Given the description of an element on the screen output the (x, y) to click on. 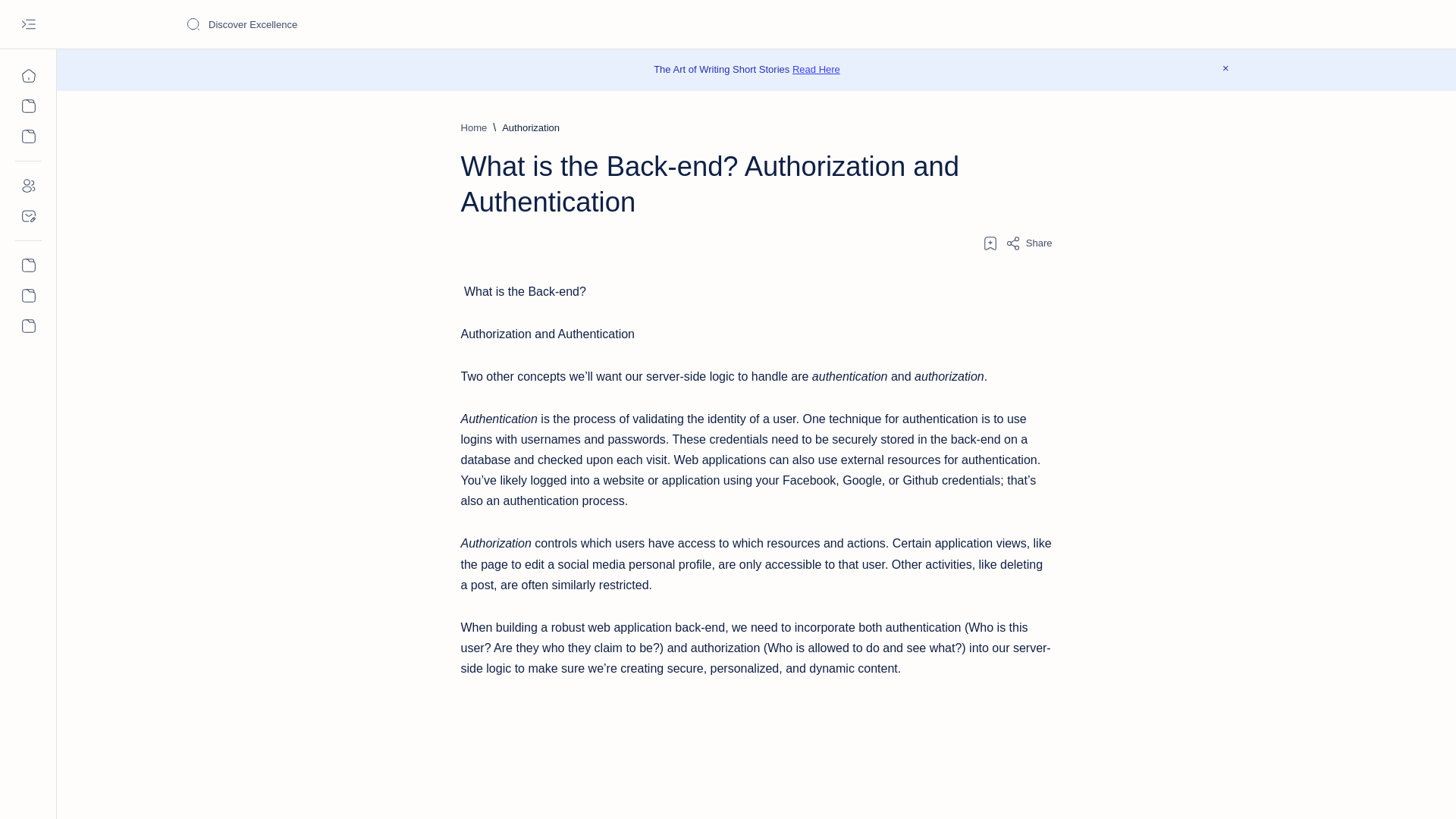
Add to bookmark (989, 242)
Read Here (816, 69)
Home (474, 127)
Authorization (530, 127)
